Given the description of an element on the screen output the (x, y) to click on. 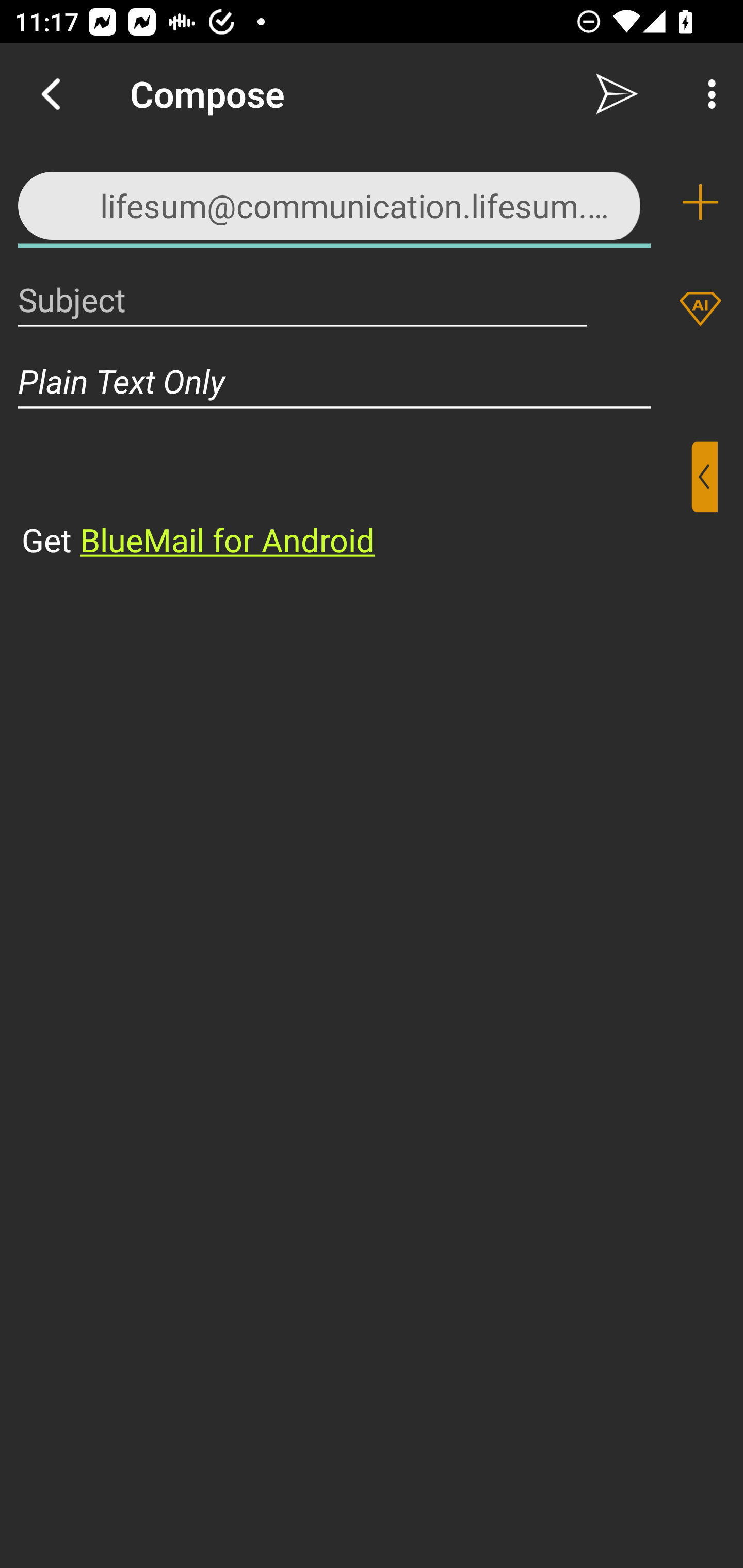
Navigate up (50, 93)
Send (616, 93)
More Options (706, 93)
<lifesum@communication.lifesum.com>,  (334, 201)
Add recipient (To) (699, 201)
Subject (302, 299)
Plain Text Only (371, 380)


⁣Get BlueMail for Android ​ (355, 501)
